Given the description of an element on the screen output the (x, y) to click on. 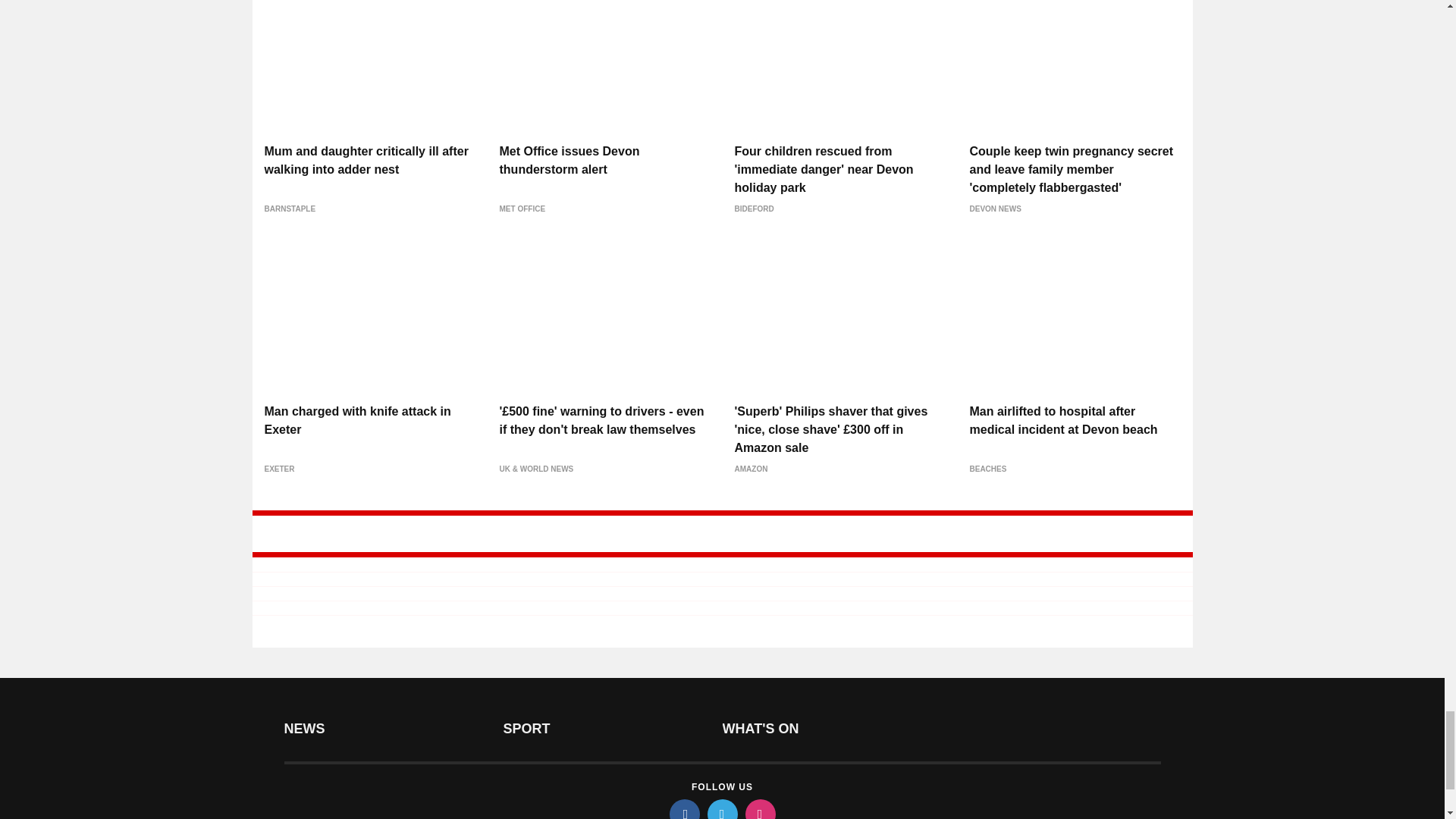
twitter (721, 809)
instagram (759, 809)
facebook (683, 809)
